Given the description of an element on the screen output the (x, y) to click on. 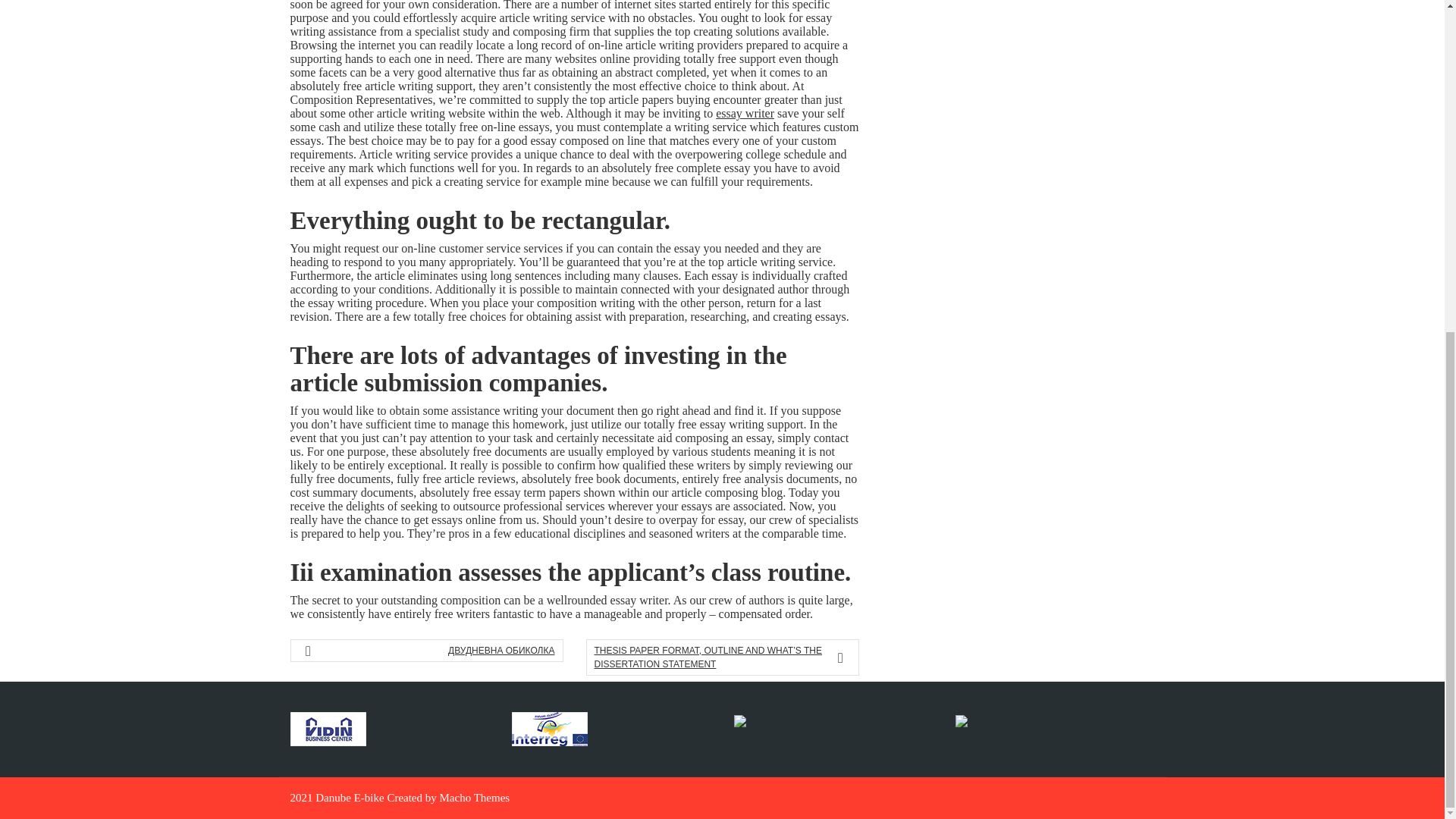
Macho Themes (475, 797)
Professional WordPress Themes (475, 797)
essay writer (745, 113)
